Given the description of an element on the screen output the (x, y) to click on. 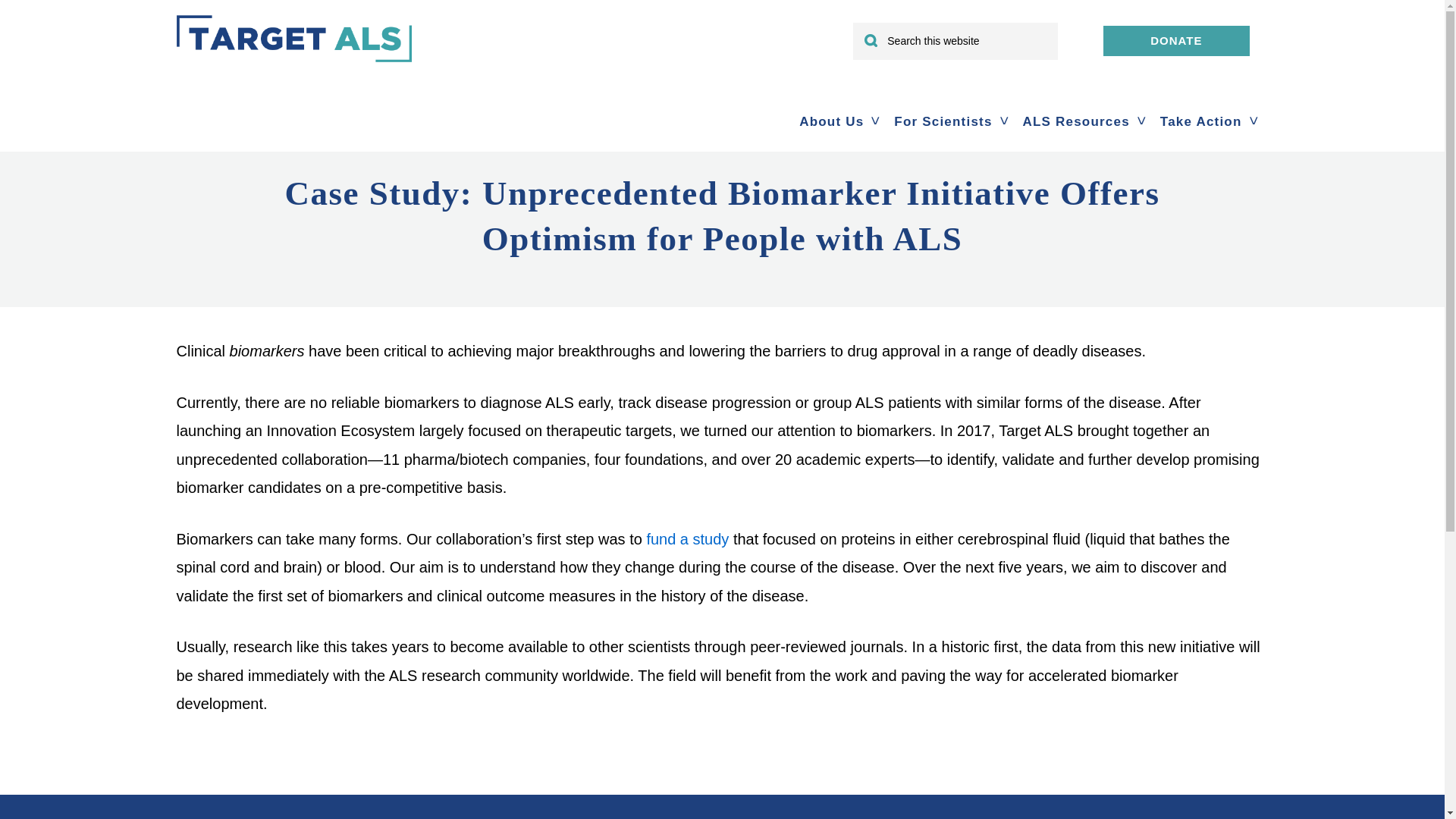
DONATE (1176, 40)
Search (1033, 31)
Search (1033, 31)
ALS Resources (1075, 121)
Search (1033, 31)
About Us (831, 121)
For Scientists (942, 121)
Take Action (1201, 121)
TARGET ALS (293, 60)
